Given the description of an element on the screen output the (x, y) to click on. 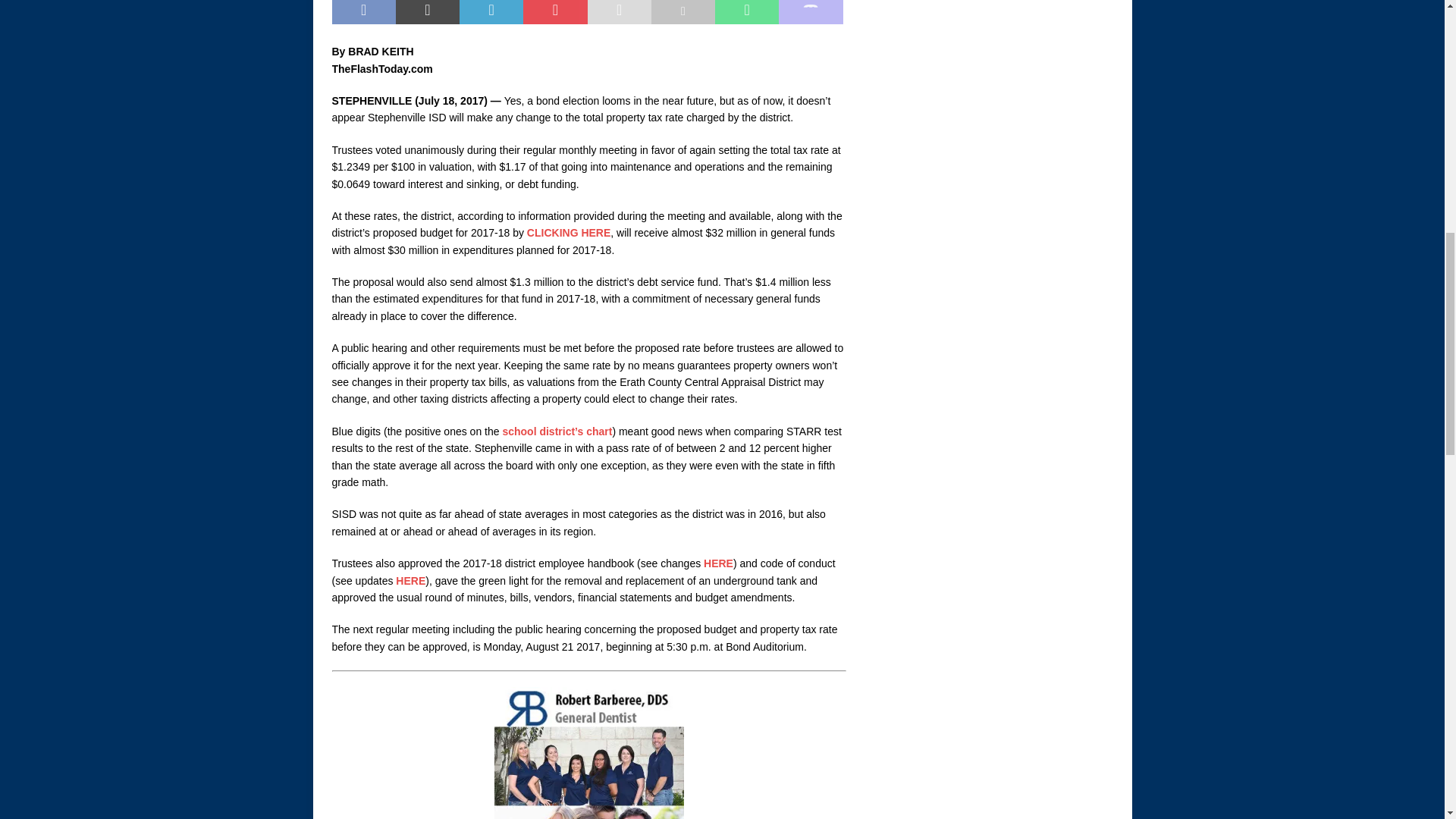
CLICKING HERE (568, 232)
Share on Facebook (363, 12)
HERE (410, 580)
Tweet This Post (428, 12)
Print this article (682, 12)
Share on LinkedIn (491, 12)
Send this article to a friend (619, 12)
Share on Whatsapp (746, 12)
Pin This Post (554, 12)
HERE (718, 563)
